Given the description of an element on the screen output the (x, y) to click on. 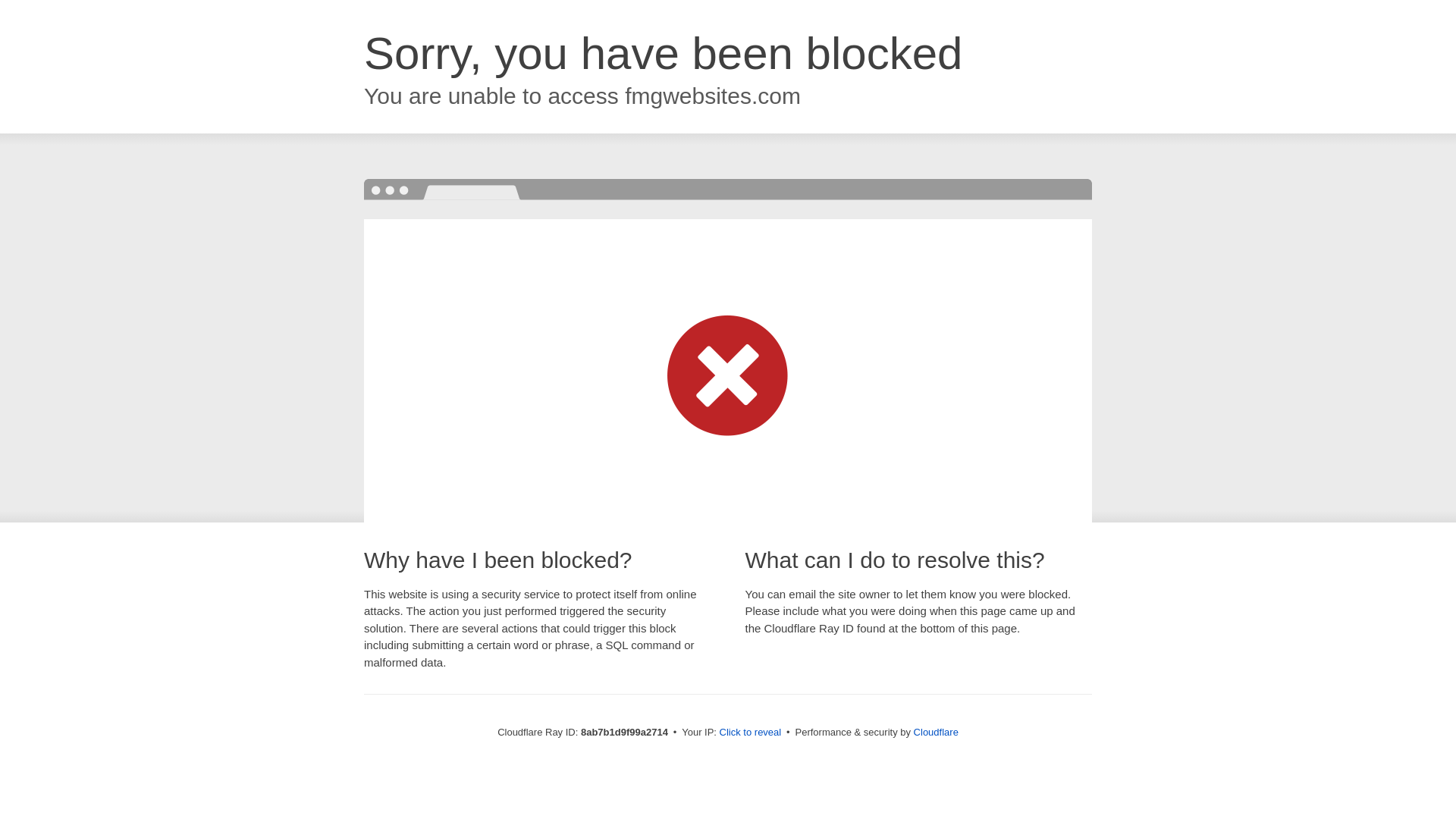
Click to reveal (750, 732)
Cloudflare (936, 731)
